Given the description of an element on the screen output the (x, y) to click on. 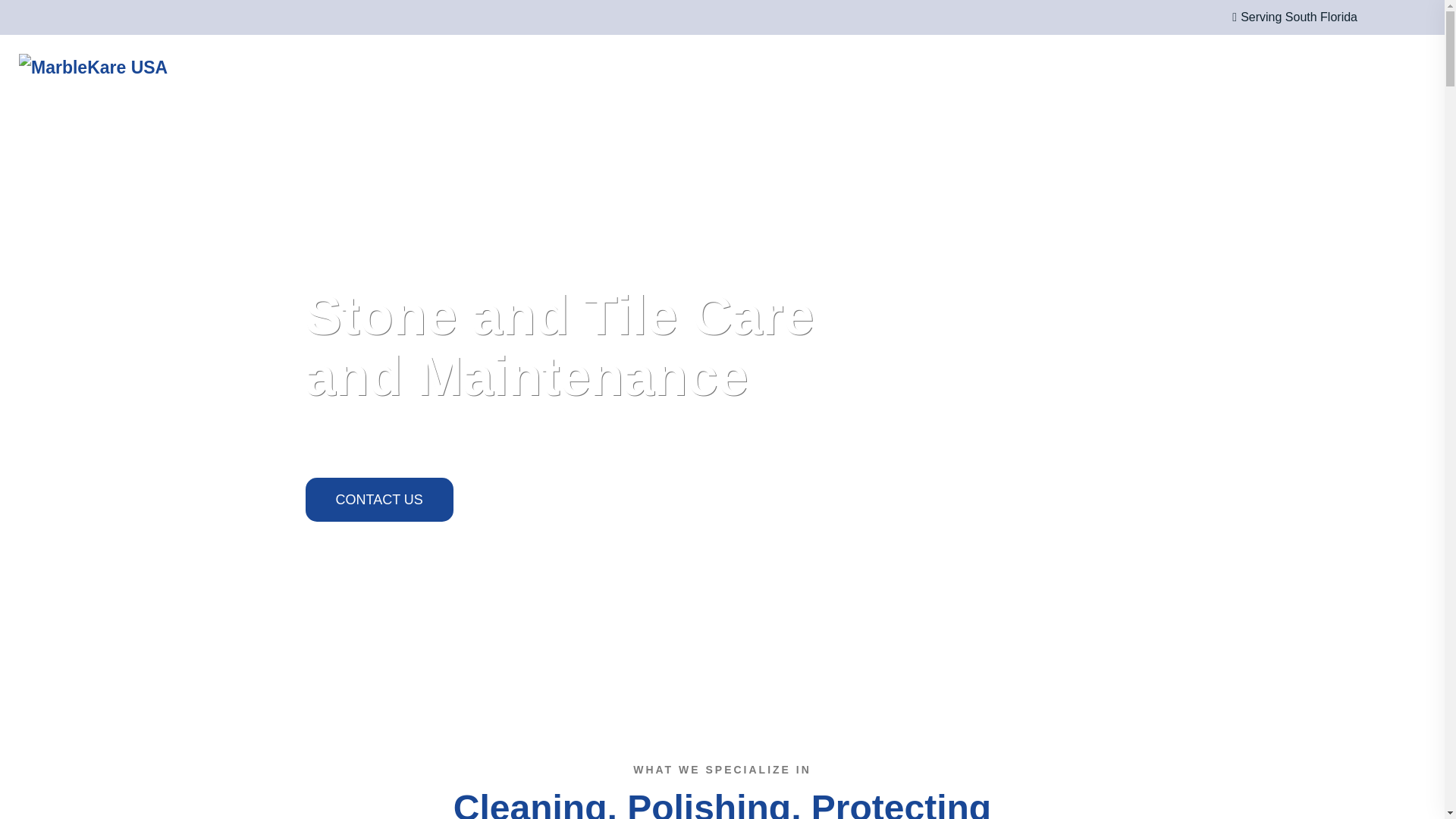
MarbleKare USA (177, 66)
Serving South Florida (1289, 17)
Home (652, 67)
